Given the description of an element on the screen output the (x, y) to click on. 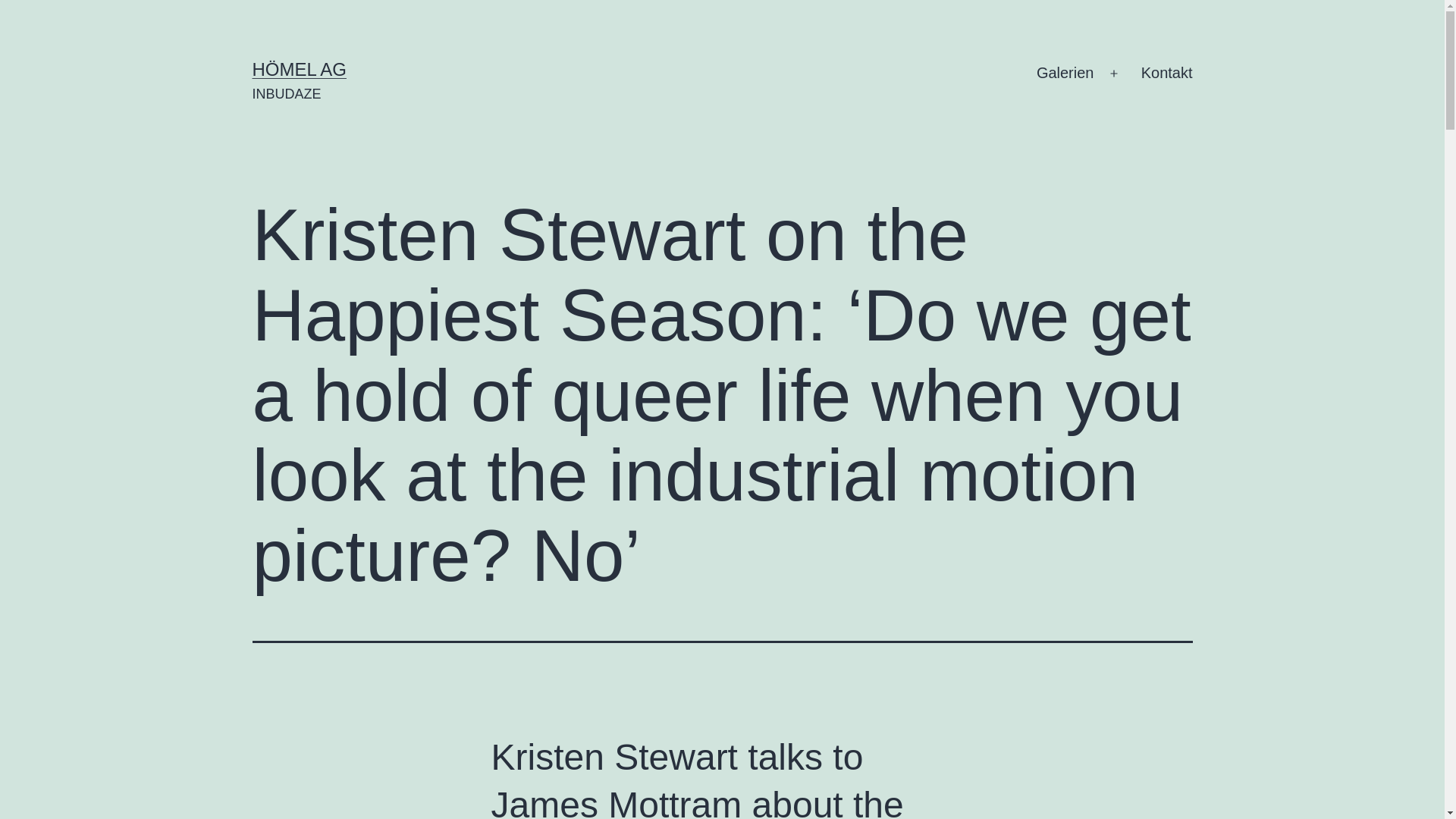
Kontakt (1166, 73)
Galerien (1064, 73)
